Given the description of an element on the screen output the (x, y) to click on. 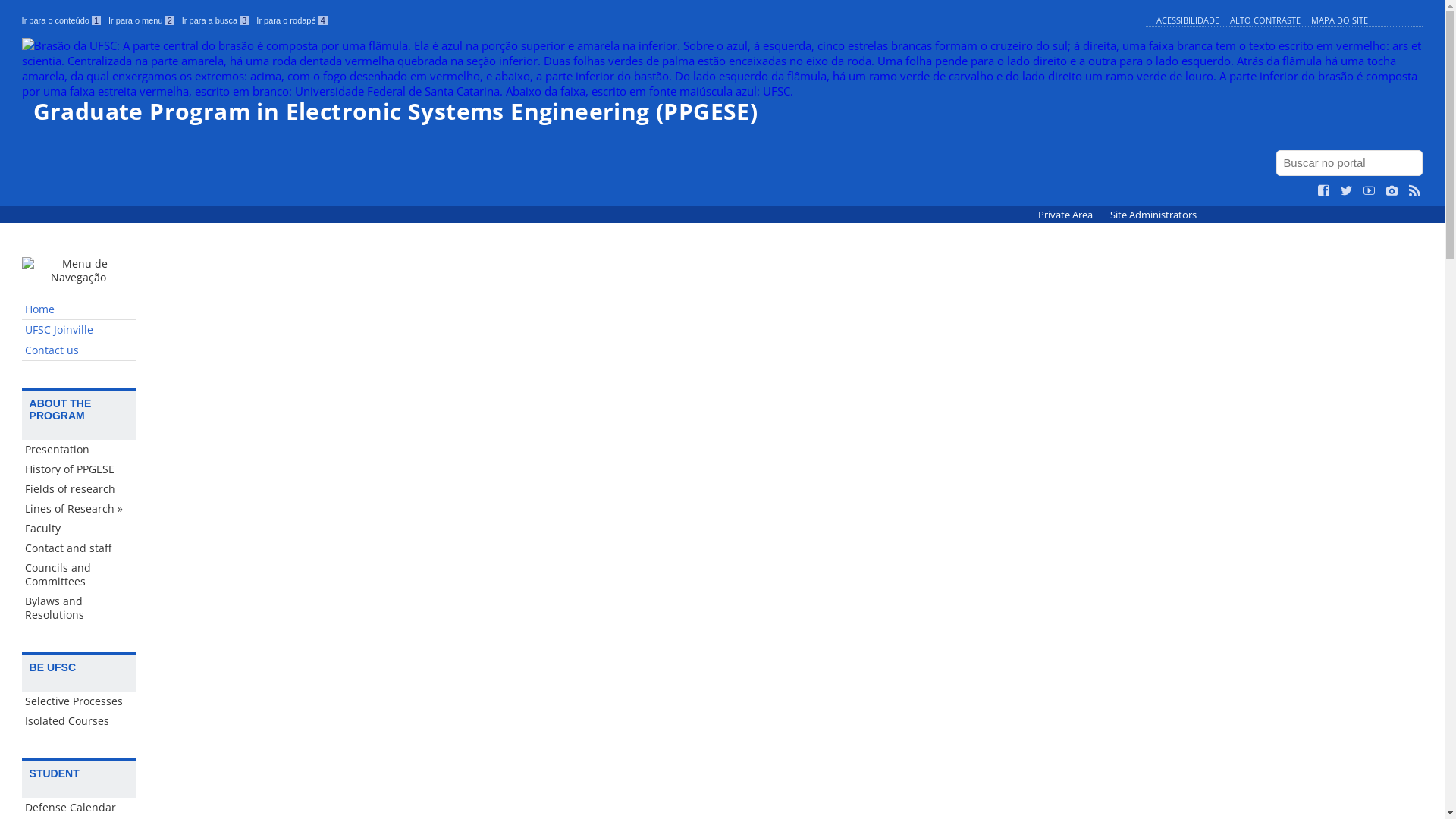
Councils and Committees Element type: text (78, 574)
Graduate Program in Electronic Systems Engineering (PPGESE) Element type: text (722, 80)
Home Element type: text (78, 309)
Curta no Facebook Element type: hover (1323, 191)
Ir para a busca 3 Element type: text (215, 20)
ACESSIBILIDADE Element type: text (1187, 19)
Contact and staff Element type: text (78, 548)
Contact us Element type: text (78, 350)
Site Administrators Element type: text (1153, 214)
Defense Calendar Element type: text (78, 807)
MAPA DO SITE Element type: text (1339, 19)
Faculty Element type: text (78, 528)
ALTO CONTRASTE Element type: text (1265, 19)
Veja no Instagram Element type: hover (1392, 191)
Bylaws and Resolutions Element type: text (78, 607)
Fields of research Element type: text (78, 488)
UFSC Joinville Element type: text (78, 330)
Ir para o menu 2 Element type: text (141, 20)
Siga no Twitter Element type: hover (1346, 191)
History of PPGESE Element type: text (78, 469)
Isolated Courses Element type: text (78, 721)
Presentation Element type: text (78, 449)
Selective Processes Element type: text (78, 701)
Private Area Element type: text (1065, 214)
